Given the description of an element on the screen output the (x, y) to click on. 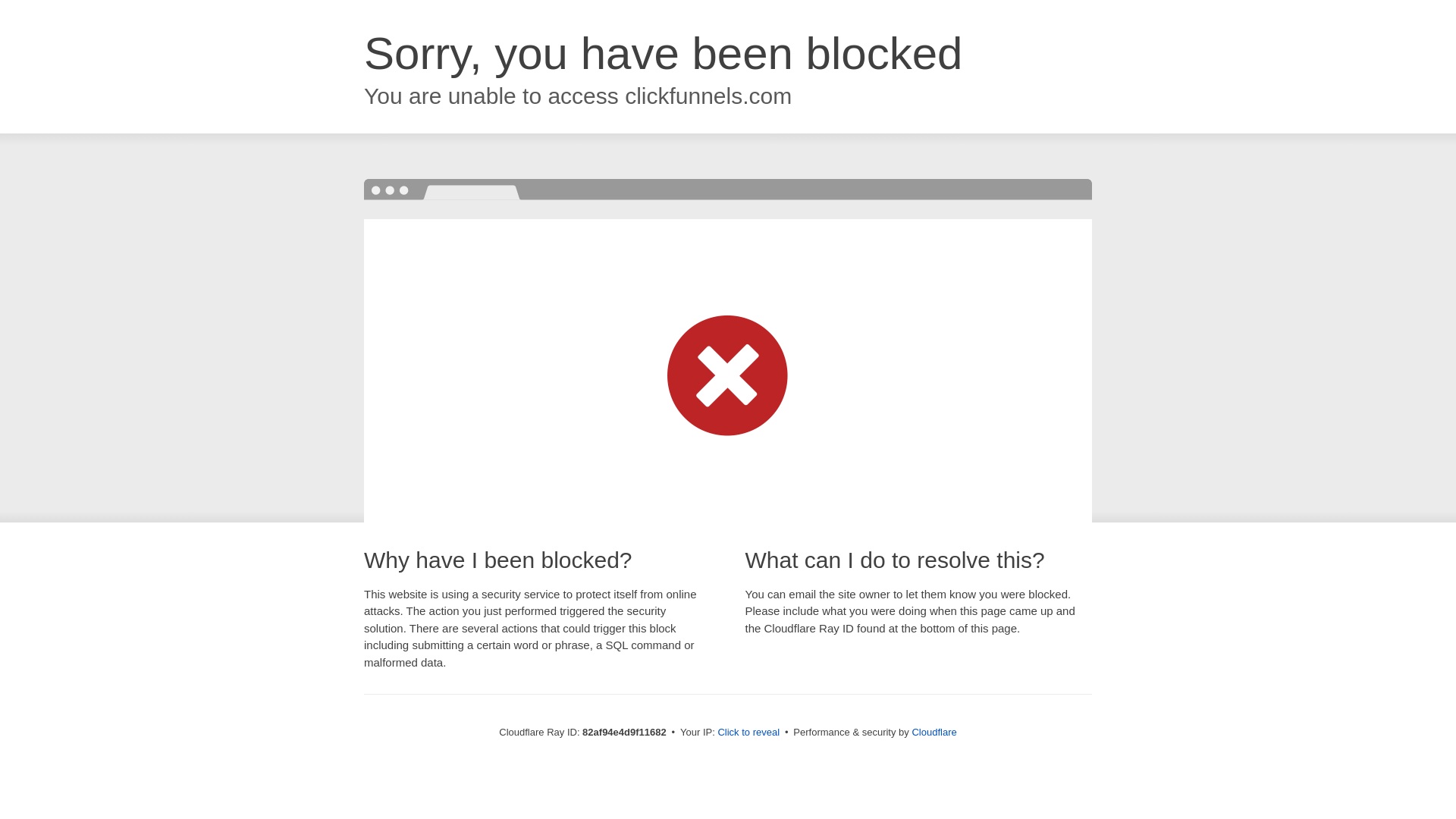
Click to reveal Element type: text (748, 732)
Cloudflare Element type: text (933, 731)
